Given the description of an element on the screen output the (x, y) to click on. 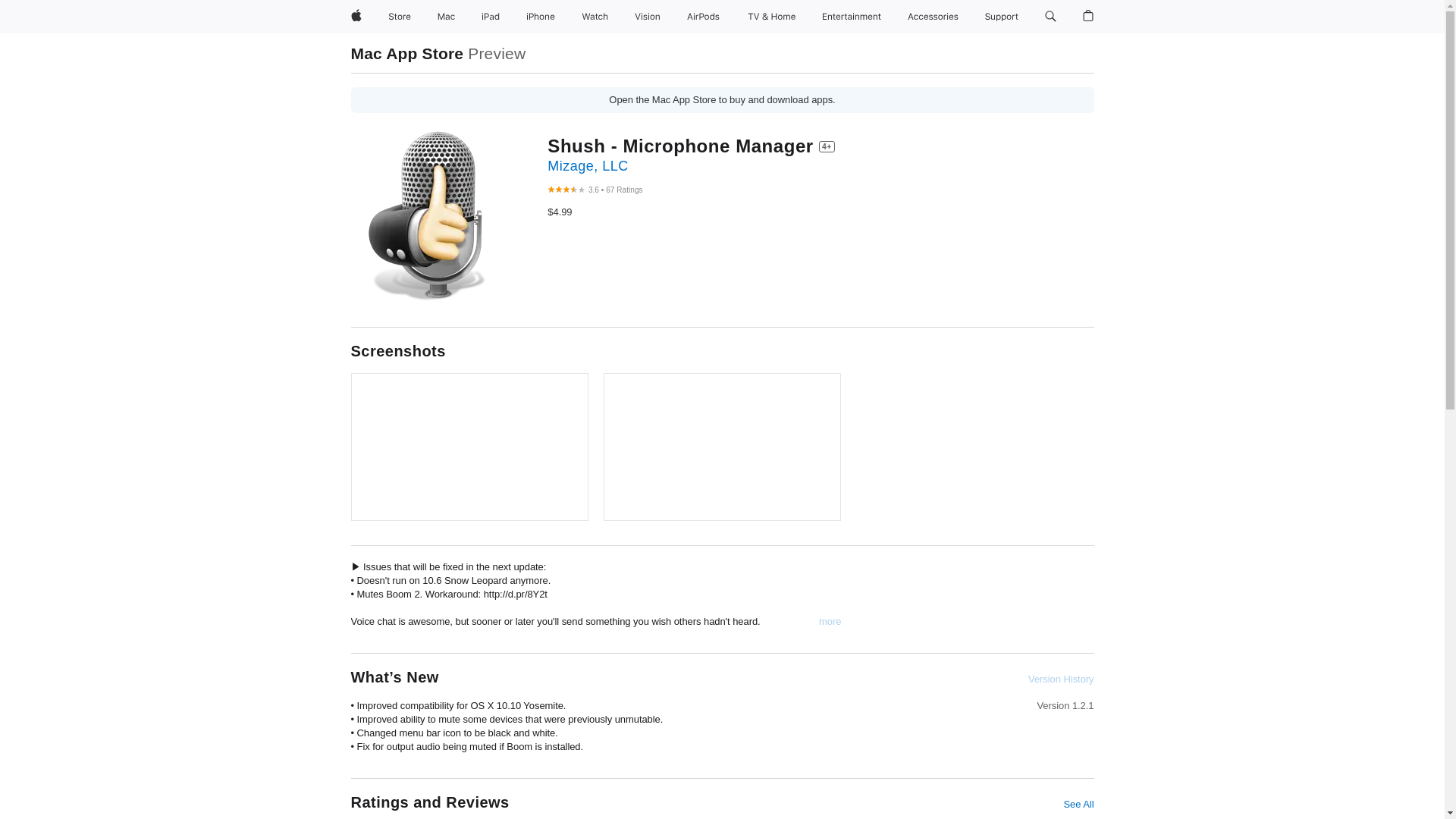
iPhone (539, 16)
iPad (490, 16)
more (829, 621)
Mac App Store (406, 53)
Mizage, LLC (587, 165)
Store (398, 16)
Version History (1060, 679)
Vision (647, 16)
See All (1077, 804)
Support (1001, 16)
Accessories (932, 16)
Watch (594, 16)
Entertainment (851, 16)
AirPods (703, 16)
